Given the description of an element on the screen output the (x, y) to click on. 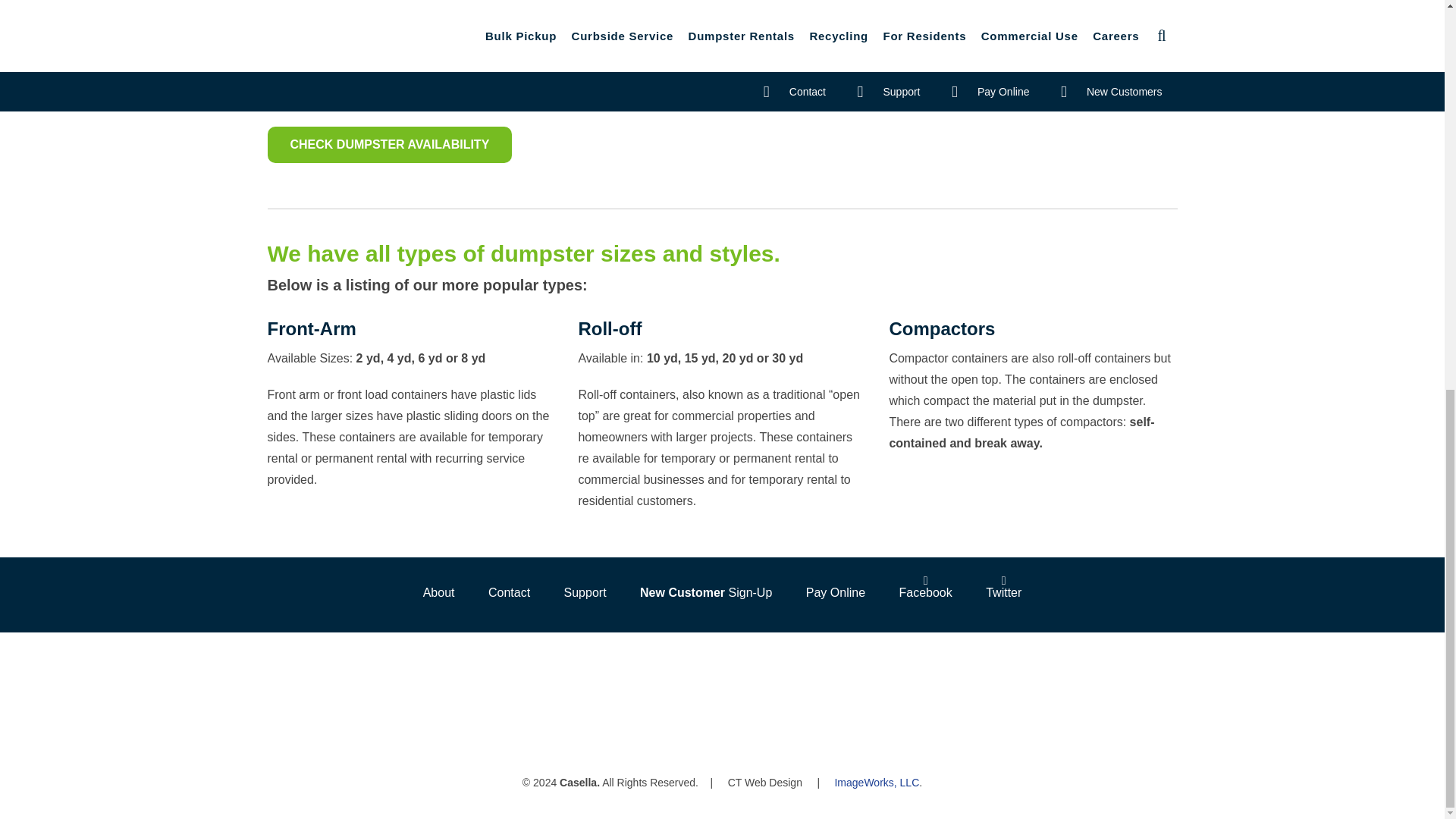
Facebook (924, 587)
Support (584, 593)
Pay Online (835, 593)
New Customer Sign-Up (705, 593)
ImageWorks, LLC (876, 781)
CHECK DUMPSTER AVAILABILITY (389, 144)
Contact (508, 593)
